Given the description of an element on the screen output the (x, y) to click on. 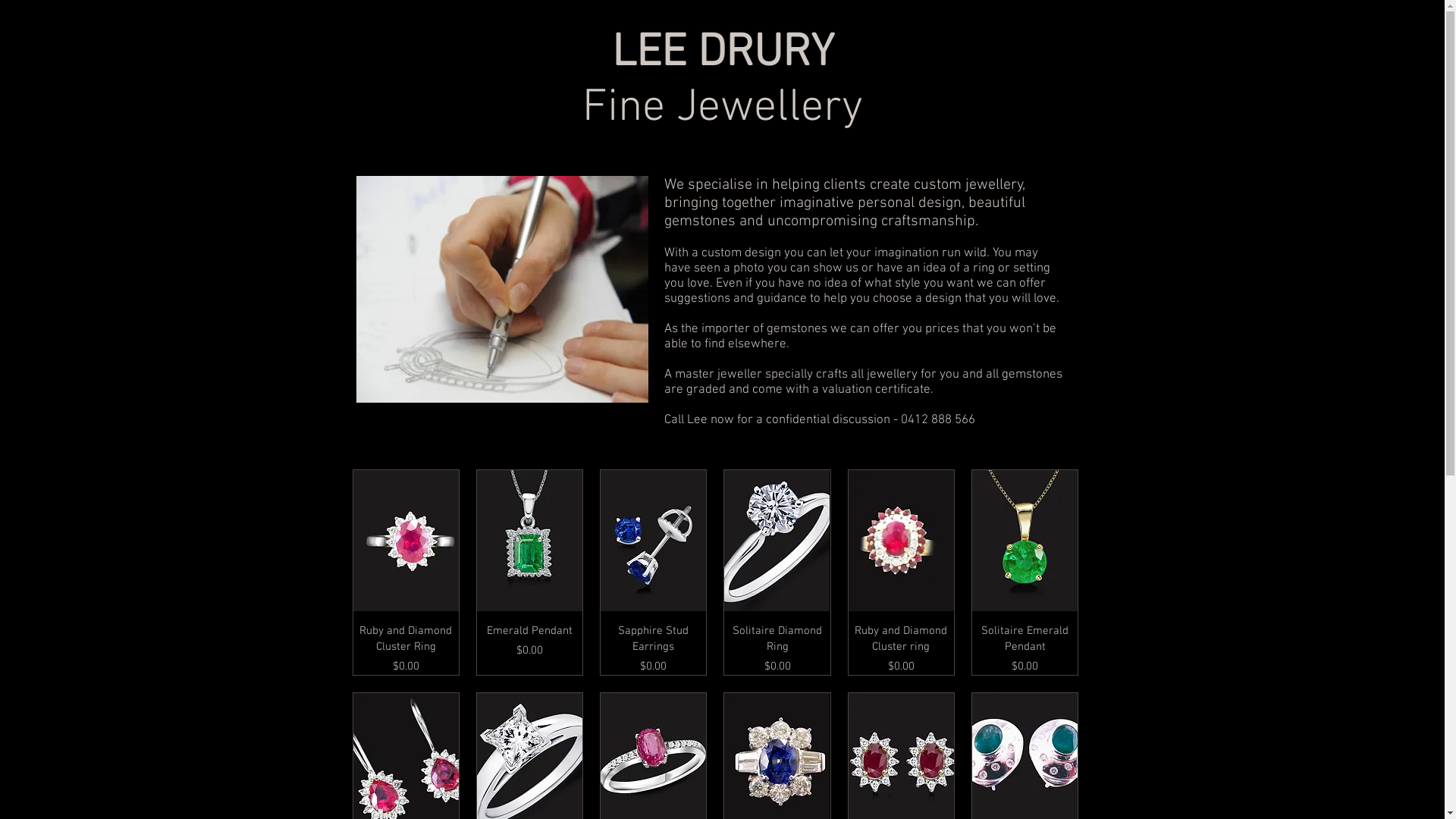
Ruby and Diamond Cluster ring
Price
$0.00 Element type: text (900, 649)
Custom Design.jpg Element type: hover (502, 288)
Ruby and Diamond Cluster Ring
Price
$0.00 Element type: text (405, 649)
Solitaire Emerald Pendant
Price
$0.00 Element type: text (1024, 649)
Solitaire Diamond Ring
Price
$0.00 Element type: text (776, 649)
Sapphire Stud Earrings
Price
$0.00 Element type: text (653, 649)
Emerald Pendant
Price
$0.00 Element type: text (529, 649)
